Given the description of an element on the screen output the (x, y) to click on. 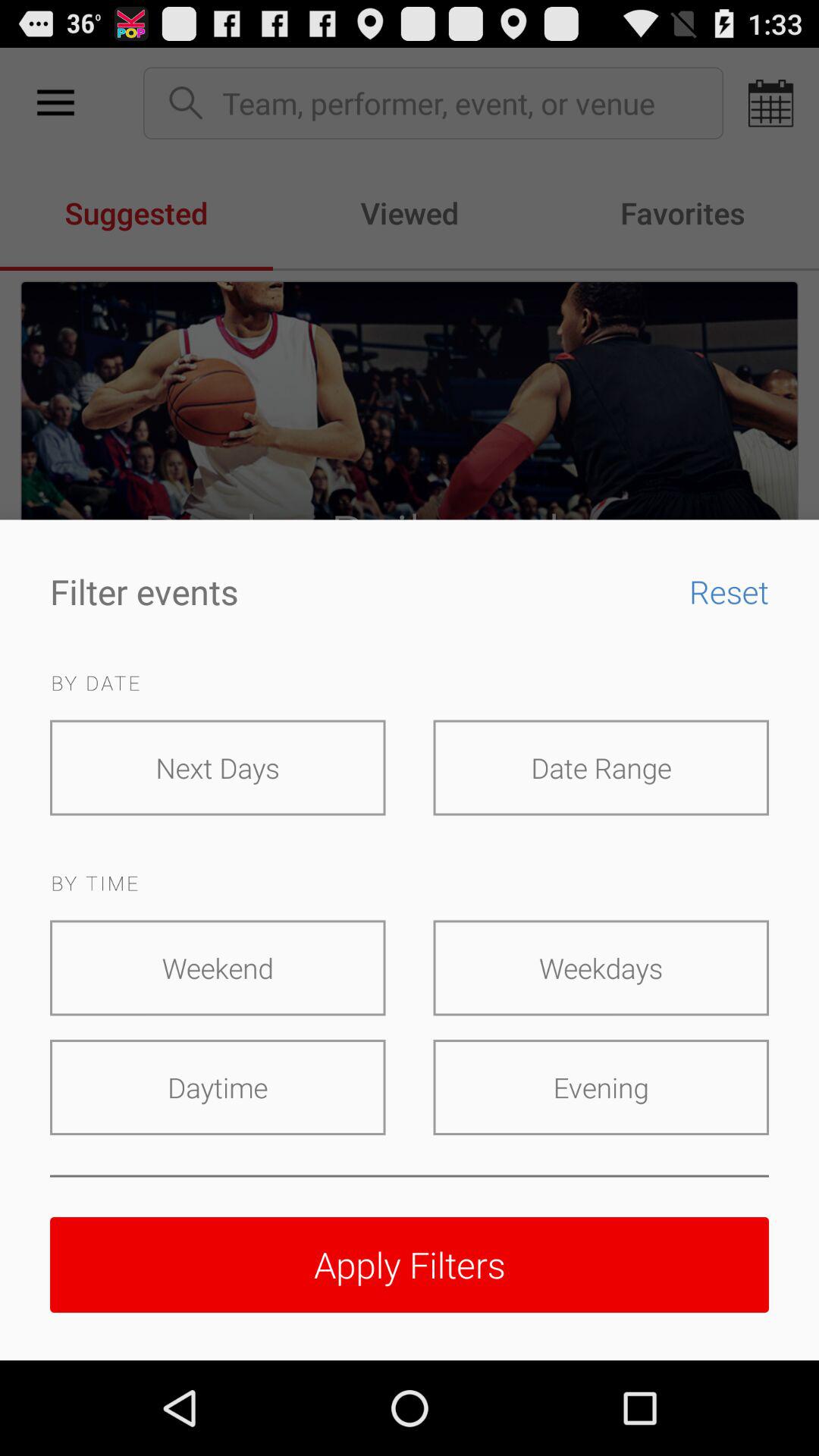
choose item next to the date range item (217, 767)
